Given the description of an element on the screen output the (x, y) to click on. 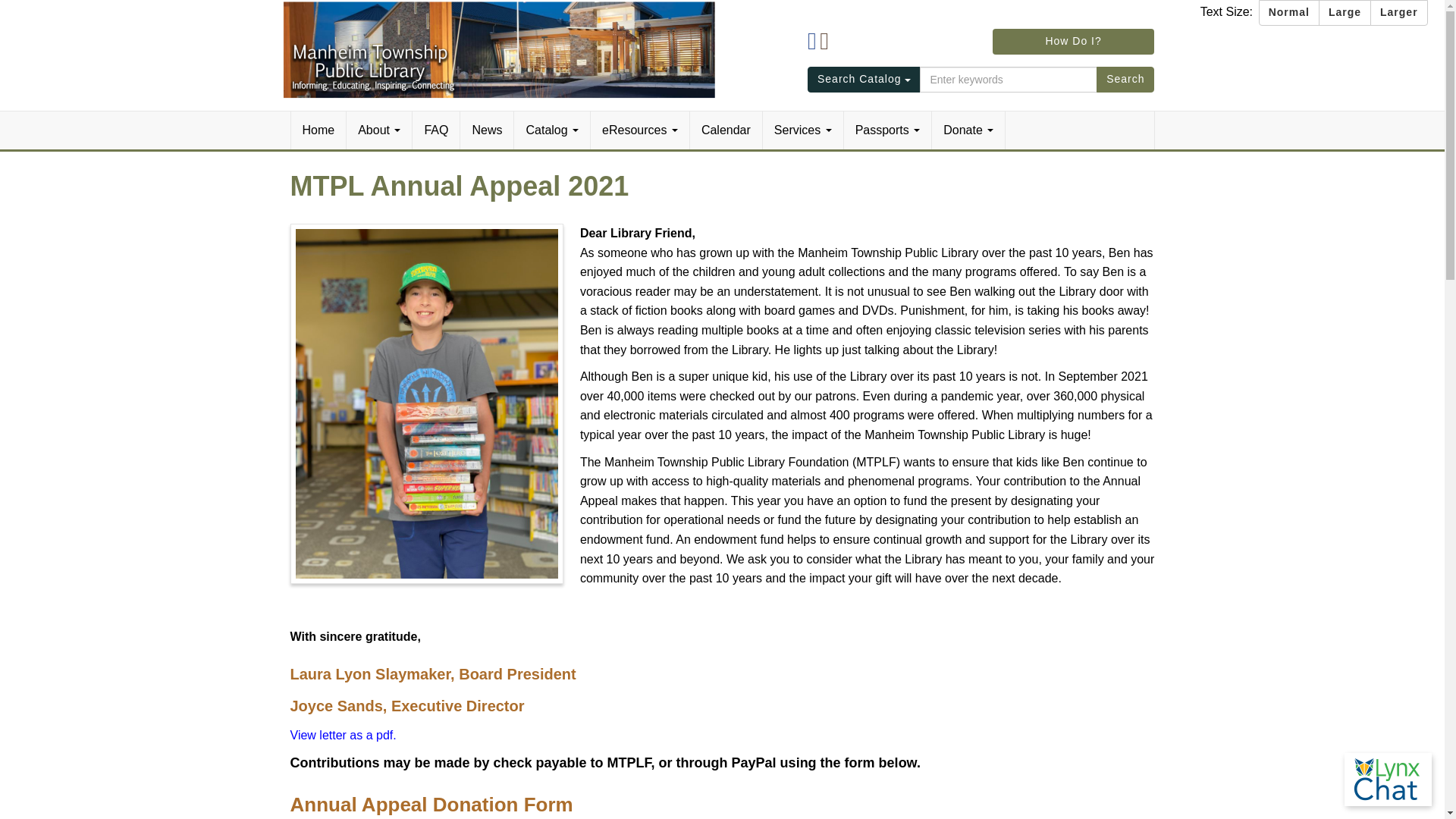
Search (1125, 79)
Search Catalog (864, 79)
Catalog (552, 130)
About (379, 130)
Search (1125, 79)
News (486, 130)
Larger (1399, 12)
How Do I? (1073, 41)
News (486, 130)
Search (1125, 79)
Manheim Township Public Library (500, 47)
Large (1345, 12)
Search for: (1008, 79)
FAQ (436, 130)
Home (319, 130)
